Given the description of an element on the screen output the (x, y) to click on. 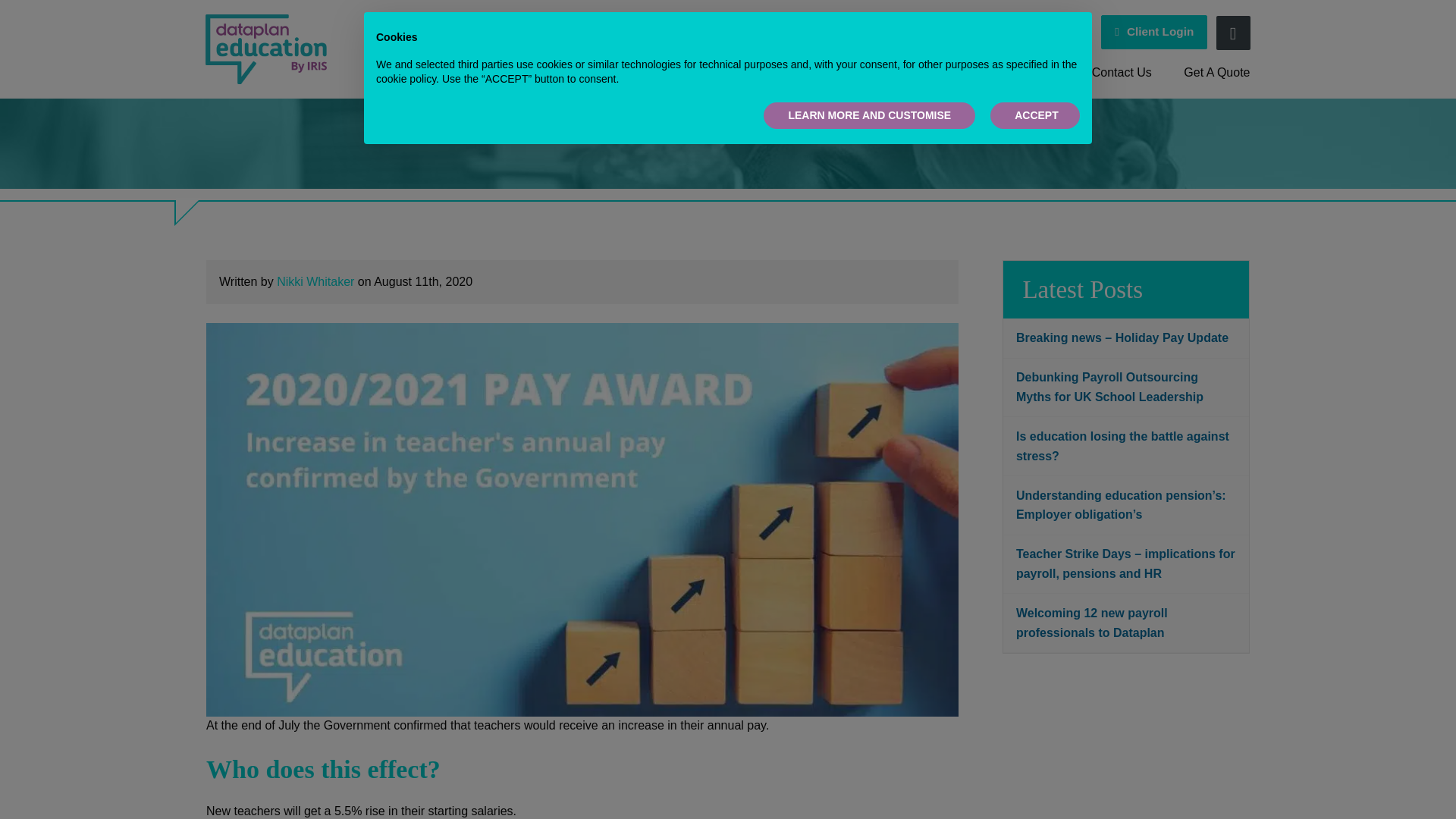
Experience (808, 72)
Get A Quote (1208, 72)
Client Login (1153, 32)
Pricing (948, 72)
Contact Us (1121, 72)
About Us (717, 72)
Blog (884, 72)
Resources (1030, 72)
